Given the description of an element on the screen output the (x, y) to click on. 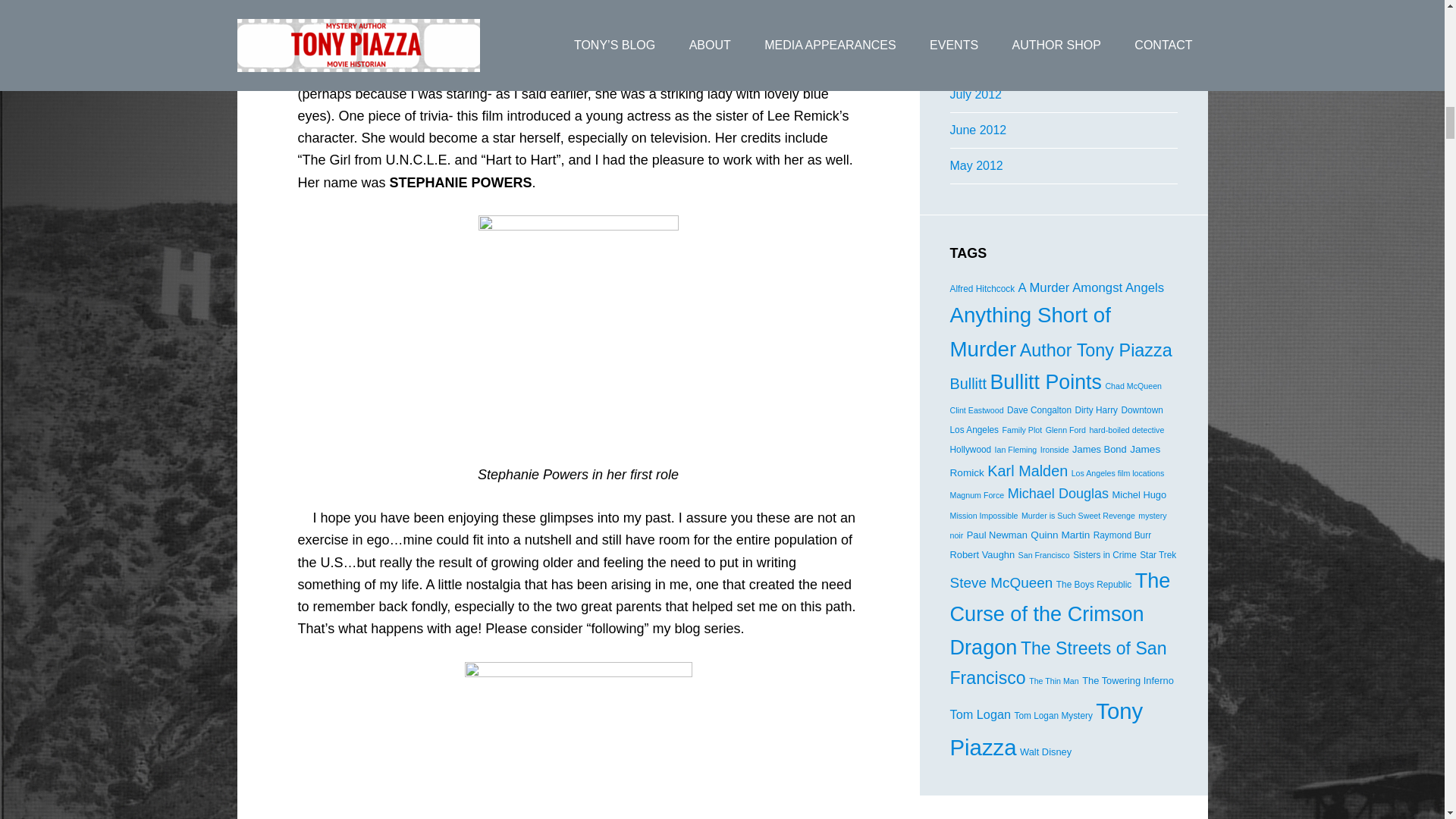
terror poster (577, 740)
StephaniePowers (577, 329)
